Given the description of an element on the screen output the (x, y) to click on. 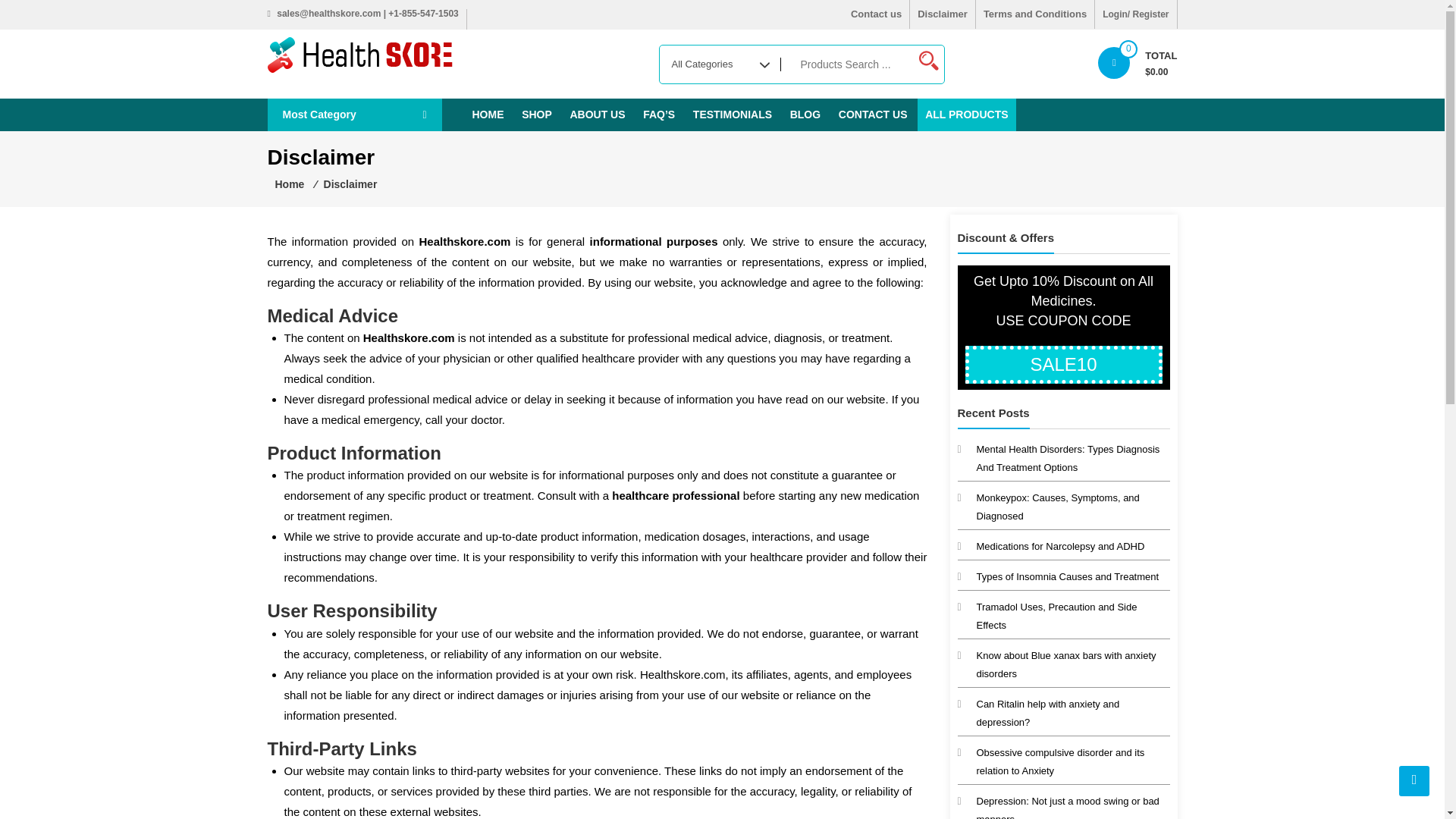
CONTACT US (873, 114)
BLOG (805, 114)
0 (1113, 62)
Contact us (875, 14)
Disclaimer (942, 14)
Terms and Conditions (1034, 14)
ABOUT US (596, 114)
ALL PRODUCTS (965, 114)
SHOP (536, 114)
TESTIMONIALS (731, 114)
